Given the description of an element on the screen output the (x, y) to click on. 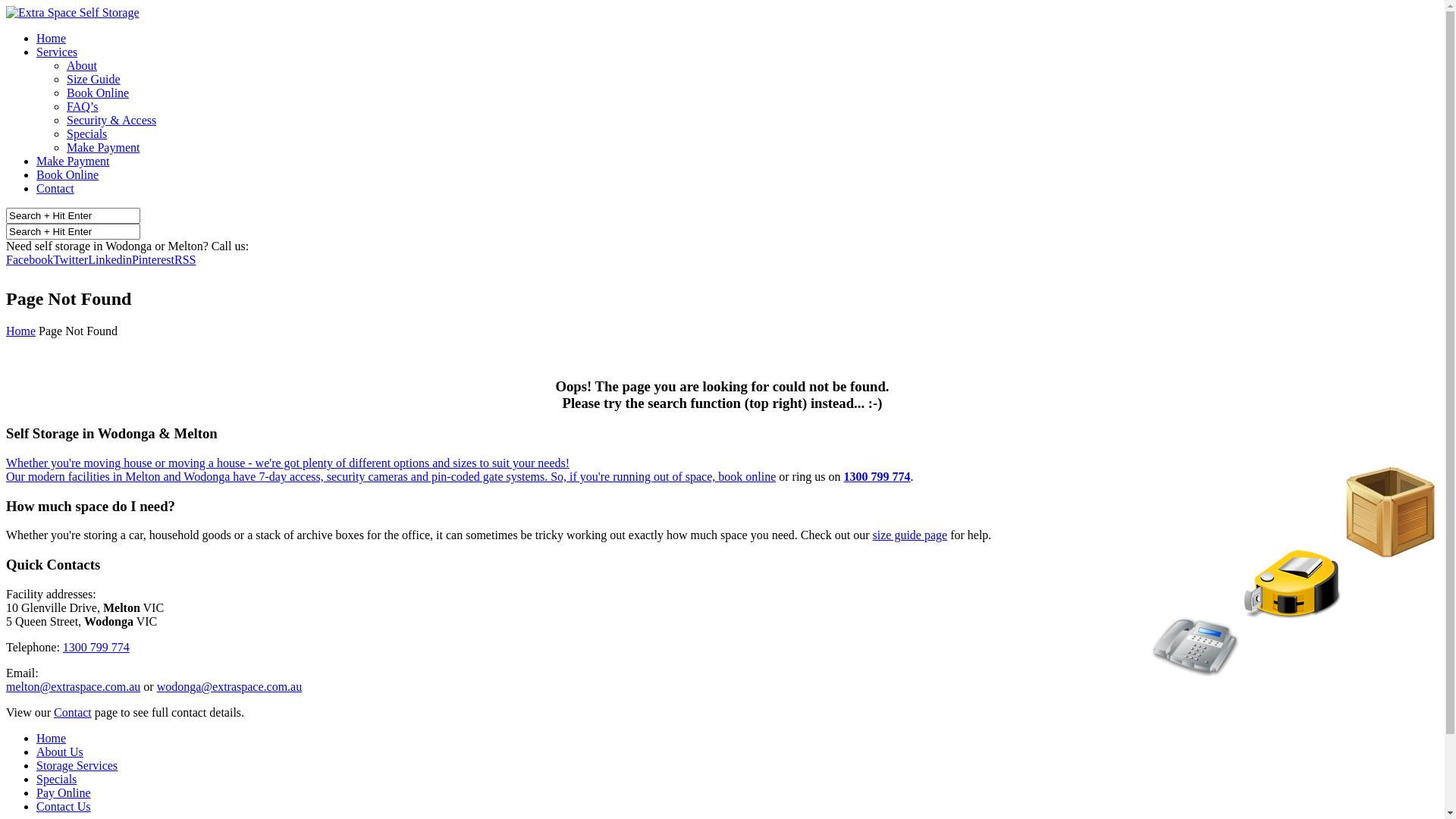
Linkedin Element type: text (109, 259)
1300 799 774 Element type: text (877, 476)
Home Element type: text (50, 37)
Book Online Element type: text (97, 92)
Storage Services Element type: text (76, 765)
Make Payment Element type: text (72, 160)
1300 799 774 Element type: text (284, 245)
Facebook Element type: text (29, 259)
Size Guide Element type: text (93, 78)
About Us Element type: text (59, 751)
Security & Access Element type: text (111, 119)
Home Element type: text (50, 737)
melton@extraspace.com.au Element type: text (73, 686)
RSS Element type: text (184, 259)
wodonga@extraspace.com.au Element type: text (229, 686)
Specials Element type: text (56, 778)
Specials Element type: text (86, 133)
Home Element type: text (20, 330)
About Element type: text (81, 65)
Make Payment Element type: text (102, 147)
Contact Us Element type: text (63, 806)
Book Online Element type: text (67, 174)
Pay Online Element type: text (63, 792)
Pinterest Element type: text (152, 259)
Contact Element type: text (55, 188)
1300 799 774 Element type: text (95, 646)
Services Element type: text (56, 51)
Extra Space Self Storage Element type: hover (72, 12)
size guide page Element type: text (909, 534)
Twitter Element type: text (70, 259)
Contact Element type: text (72, 712)
book online Element type: text (746, 476)
